Given the description of an element on the screen output the (x, y) to click on. 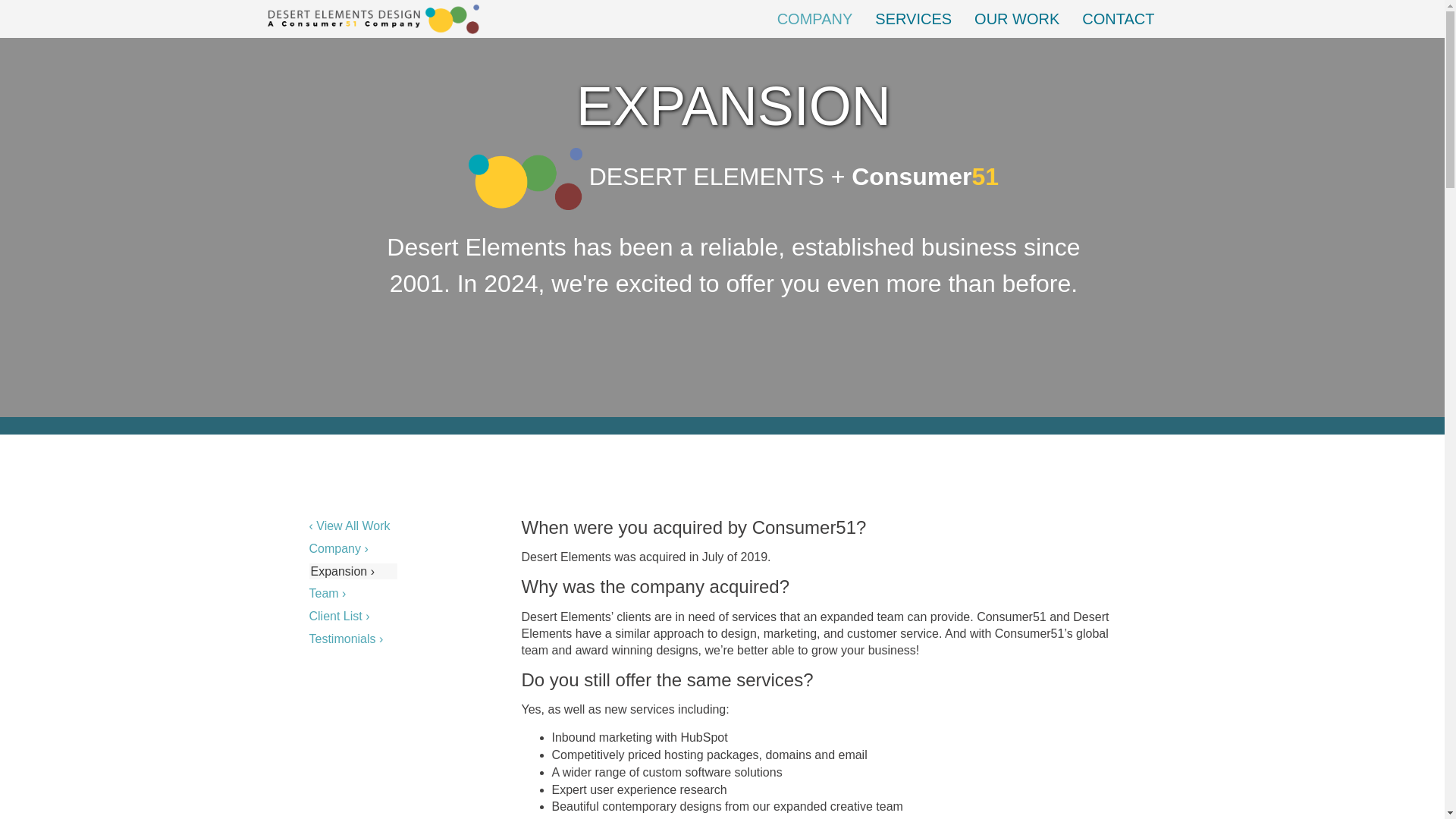
OUR WORK (1016, 18)
COMPANY (814, 18)
CONTACT (1118, 18)
SERVICES (912, 18)
